Given the description of an element on the screen output the (x, y) to click on. 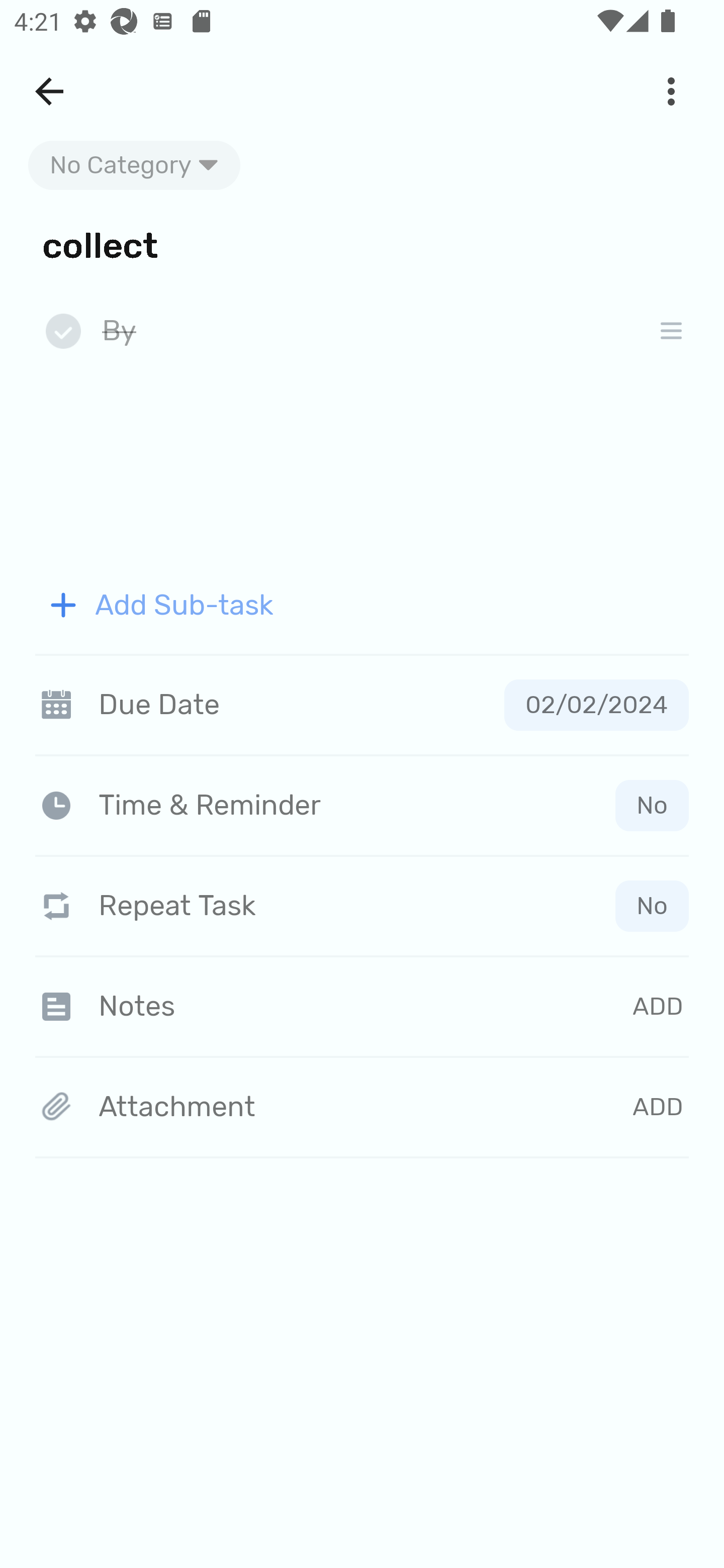
No Category (134, 165)
collect (362, 244)
By (366, 331)
Add Sub-task (362, 604)
Due Date 02/02/2024 (362, 704)
Time & Reminder No (365, 804)
Repeat Task No (362, 905)
Notes ADD (362, 1006)
Attachment ADD (362, 1107)
